Given the description of an element on the screen output the (x, y) to click on. 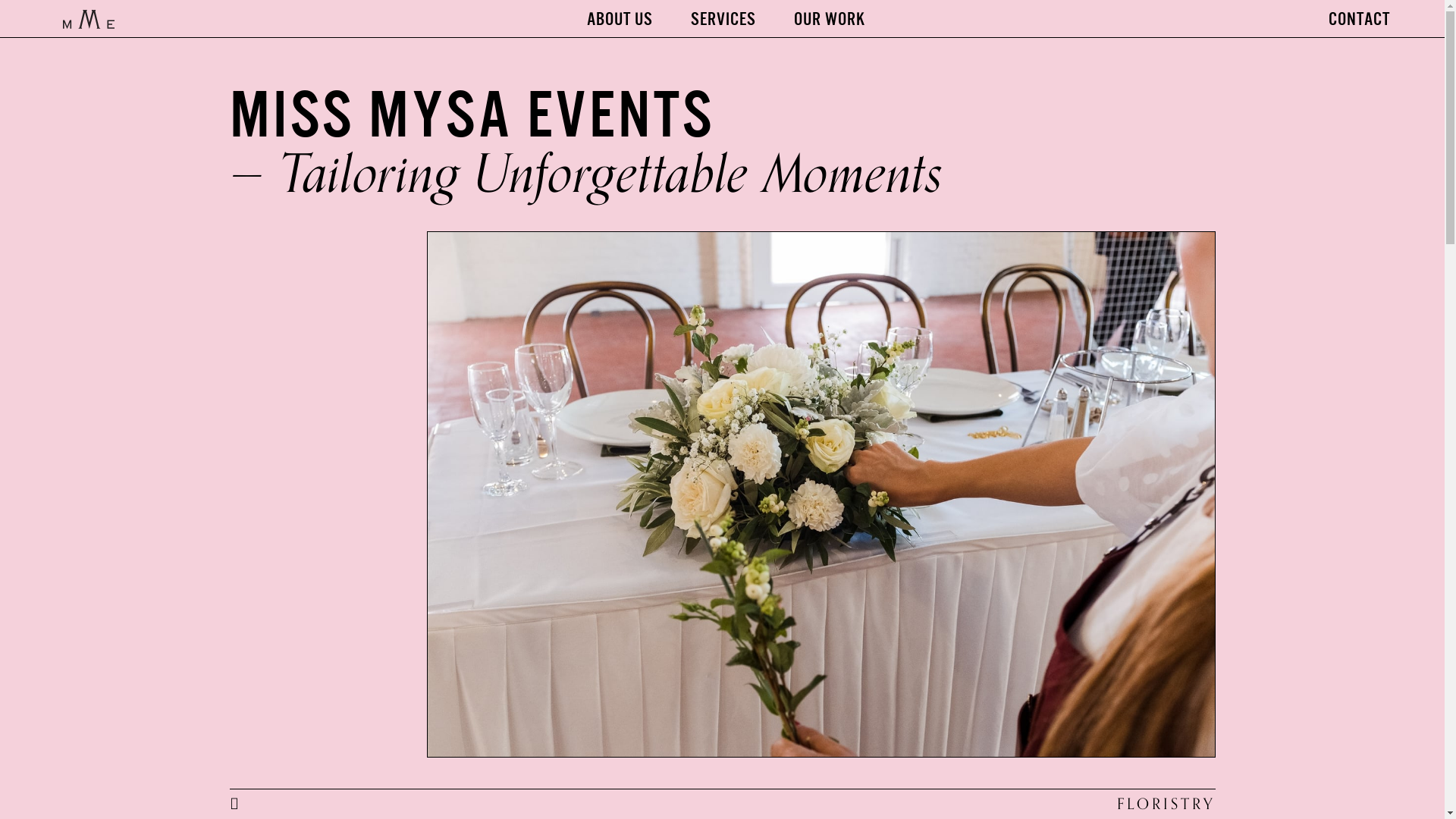
ABOUT US Element type: text (619, 19)
CONTACT Element type: text (1359, 19)
SERVICES Element type: text (723, 19)
OUR WORK Element type: text (829, 19)
